Given the description of an element on the screen output the (x, y) to click on. 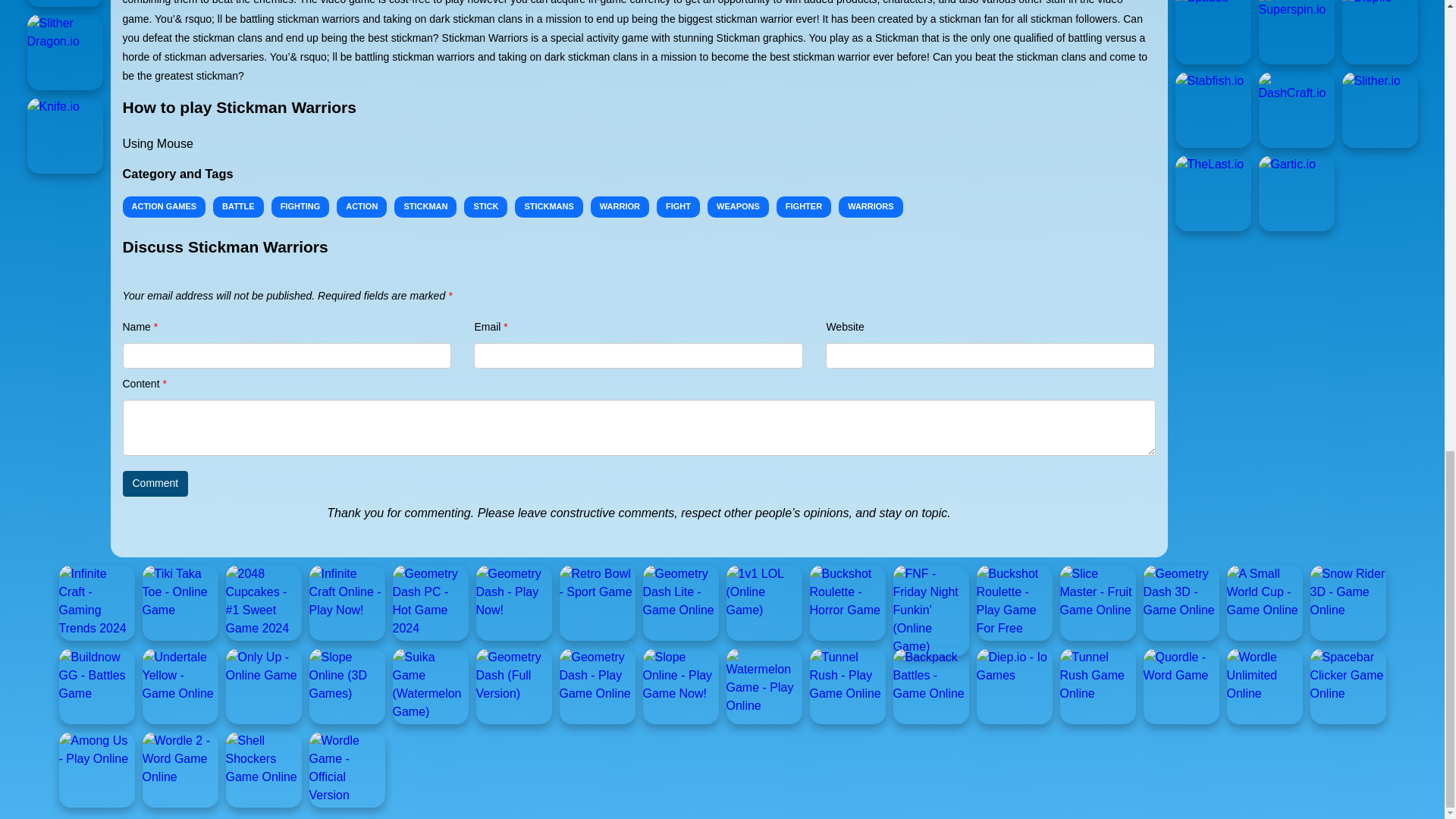
FIGHTING (300, 206)
ACTION GAMES (164, 206)
Comment (155, 483)
WARRIOR (620, 206)
ACTION (361, 206)
Knife.io (65, 135)
Wormeat.io Online (65, 3)
STICK (485, 206)
STICKMAN (425, 206)
STICKMANS (548, 206)
BATTLE (237, 206)
Slither Dragon.io (65, 52)
